Given the description of an element on the screen output the (x, y) to click on. 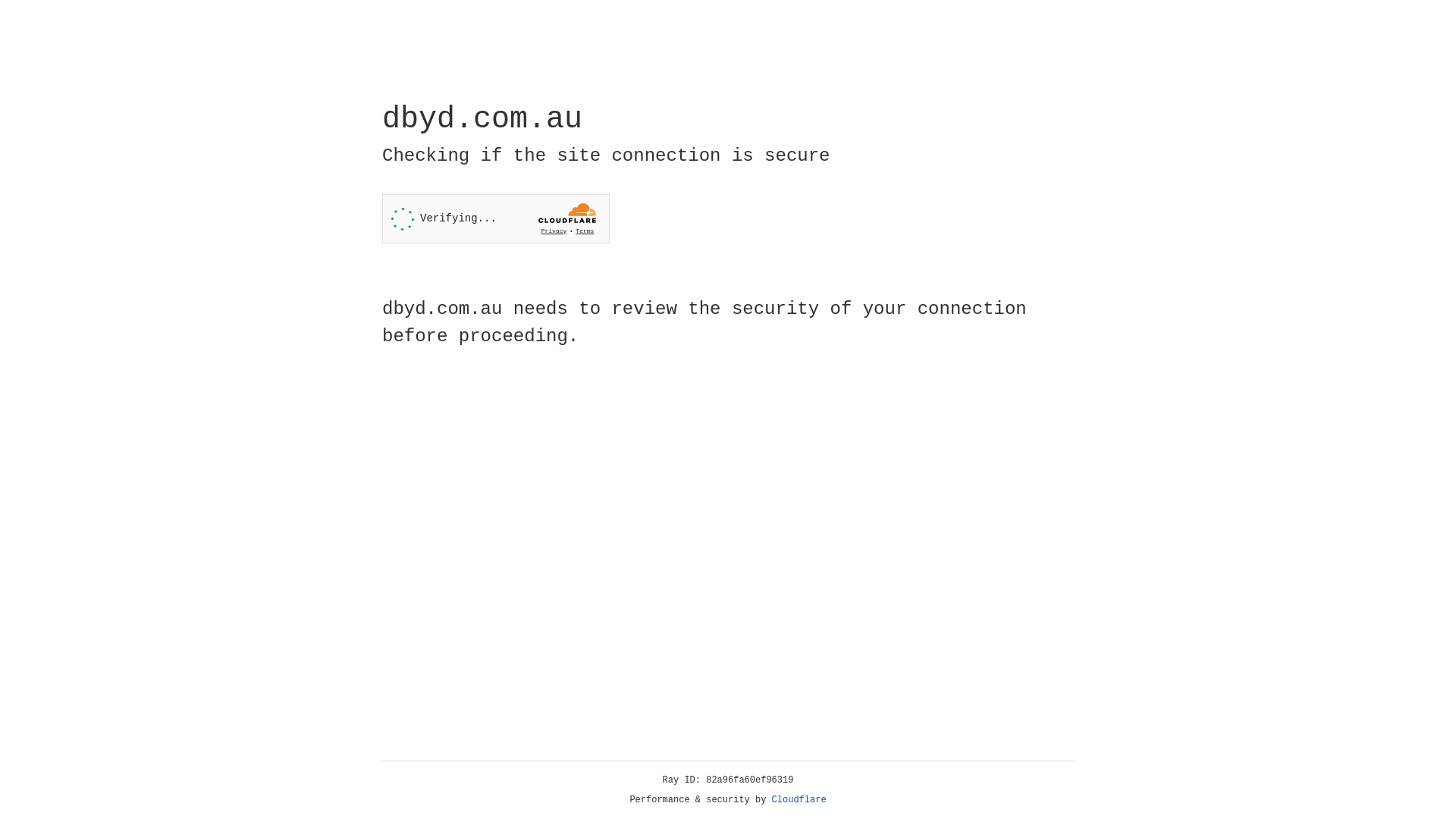
Widget containing a Cloudflare security challenge Element type: hover (495, 218)
Cloudflare Element type: text (798, 799)
